Given the description of an element on the screen output the (x, y) to click on. 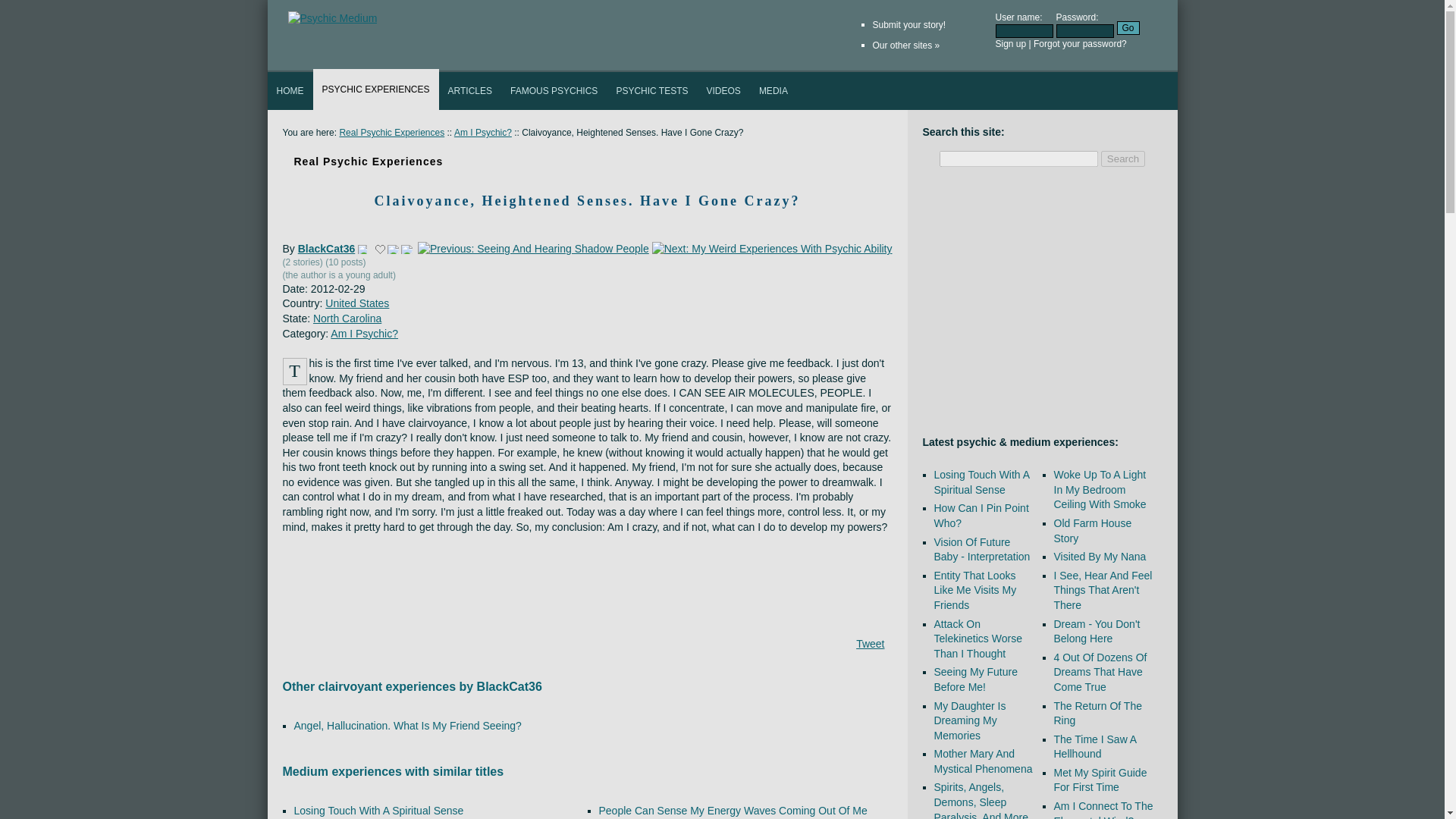
Am I Psychic? (483, 132)
Go (1127, 28)
ARTICLES (469, 90)
PSYCHIC TESTS (652, 90)
North Carolina (347, 318)
FAMOUS PSYCHICS (553, 90)
Print this story (406, 248)
Am I Psychic? (363, 333)
Angel, Hallucination. What Is My Friend Seeing? (407, 725)
BlackCat36 (326, 248)
Add BlackCat36 to your favorite people (362, 248)
VIDEOS (723, 90)
Forgot your password (1077, 43)
Tweet (869, 644)
Send this story to a friend (392, 248)
